Given the description of an element on the screen output the (x, y) to click on. 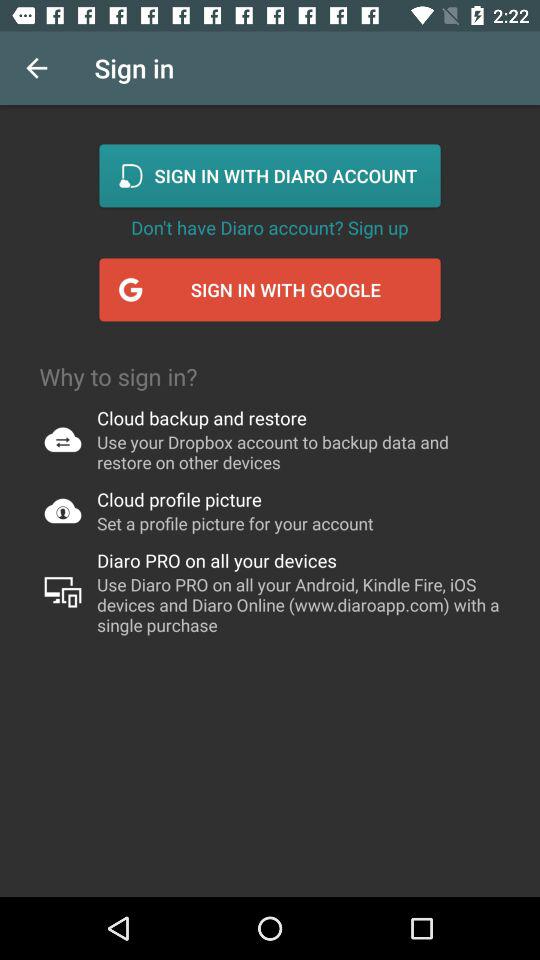
tap the don t have icon (269, 227)
